Given the description of an element on the screen output the (x, y) to click on. 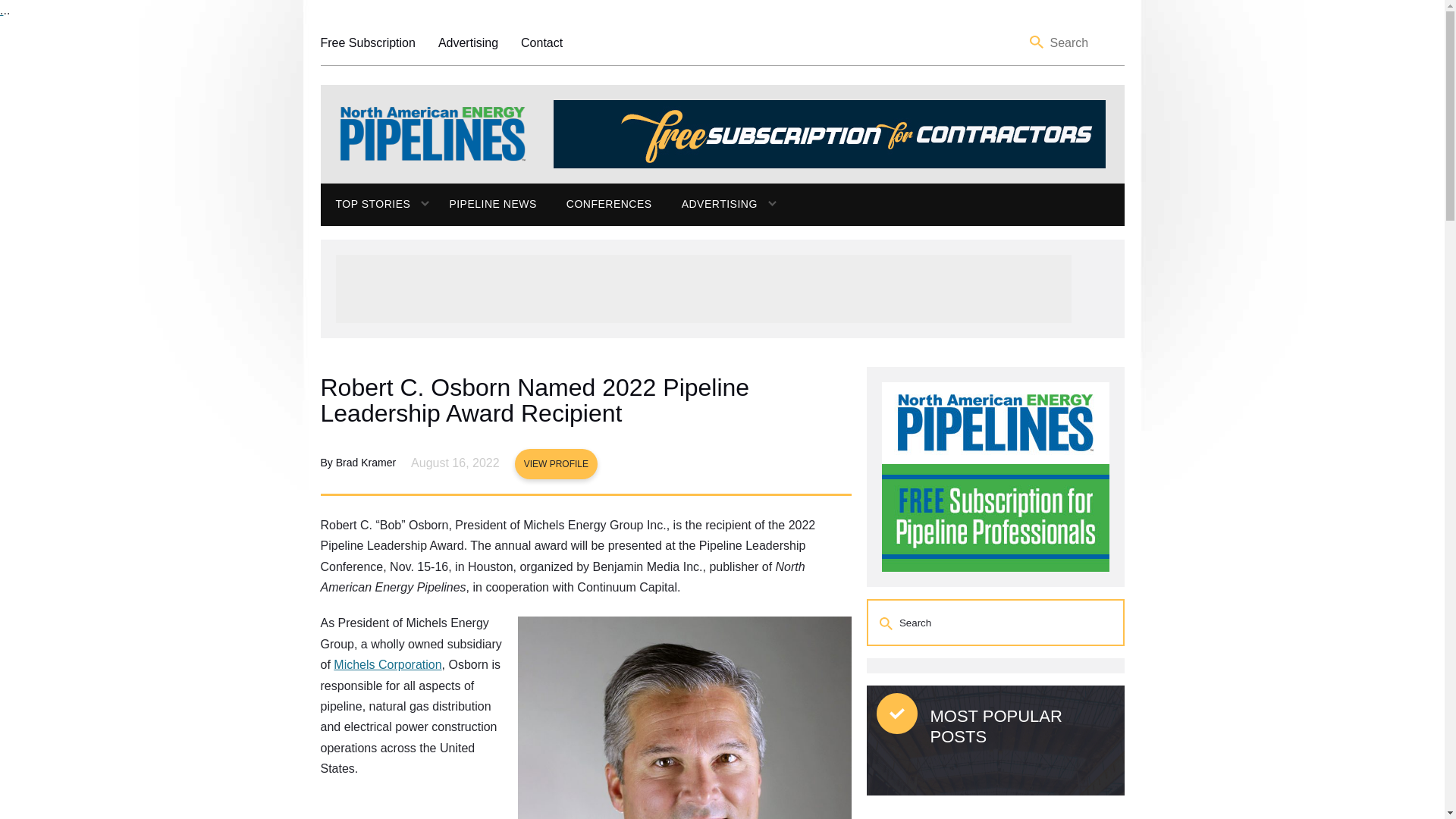
Search (1037, 43)
ADVERTISING (711, 204)
CONFERENCES (608, 204)
Search (887, 622)
Free Magazine Subscription (367, 42)
Free Subscription (367, 42)
Michels Corporation (387, 664)
VIEW PROFILE (555, 463)
Contact (541, 42)
